Given the description of an element on the screen output the (x, y) to click on. 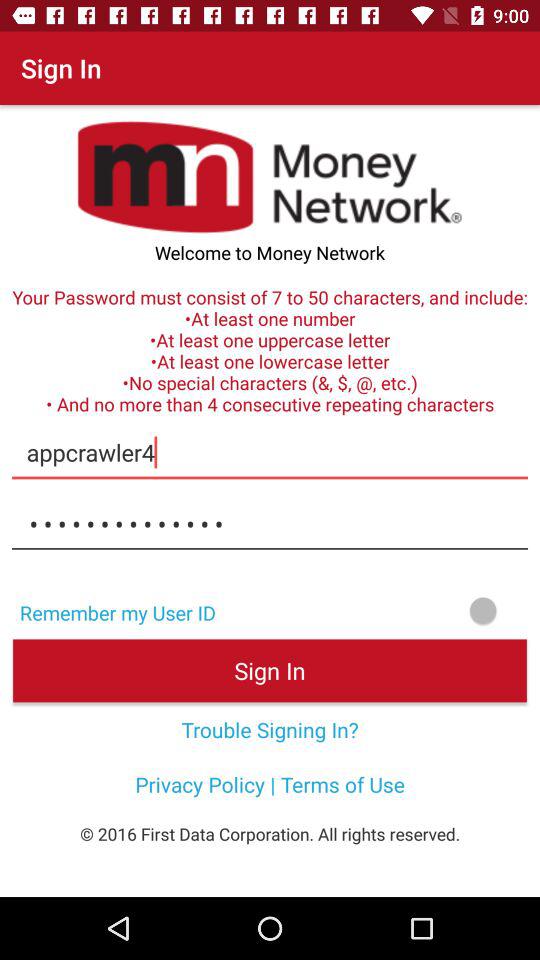
turn remember my user id on (384, 610)
